Given the description of an element on the screen output the (x, y) to click on. 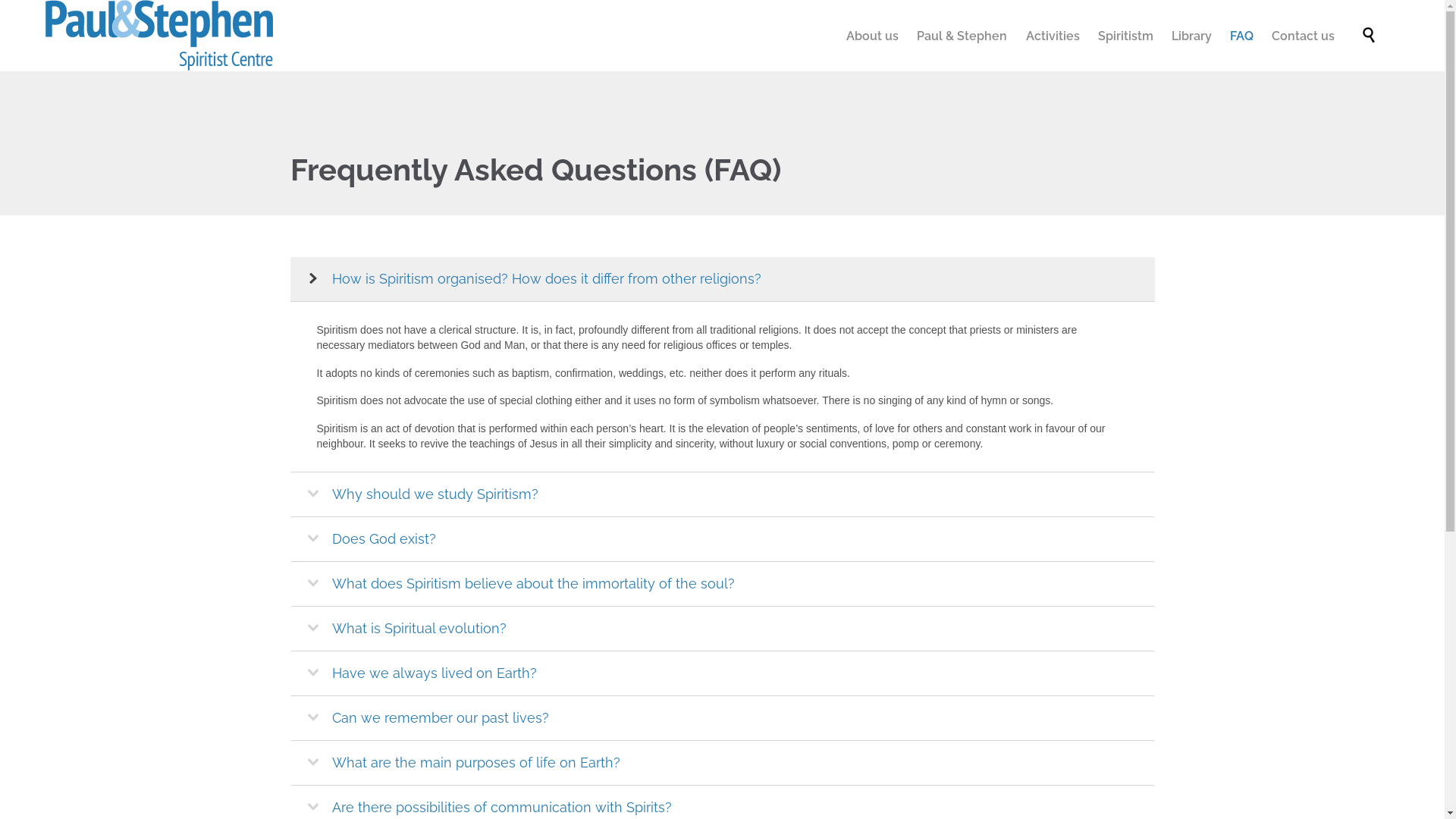
Library Element type: text (1191, 36)
Paul & Stephen Element type: text (962, 36)
Spiritistm Element type: text (1125, 36)
Paul & Stephen Element type: hover (159, 35)
About us Element type: text (872, 36)
FAQ Element type: text (1242, 36)
Contact us Element type: text (1303, 36)
Activities Element type: text (1052, 36)
Skip to content Element type: text (1345, 18)
